Given the description of an element on the screen output the (x, y) to click on. 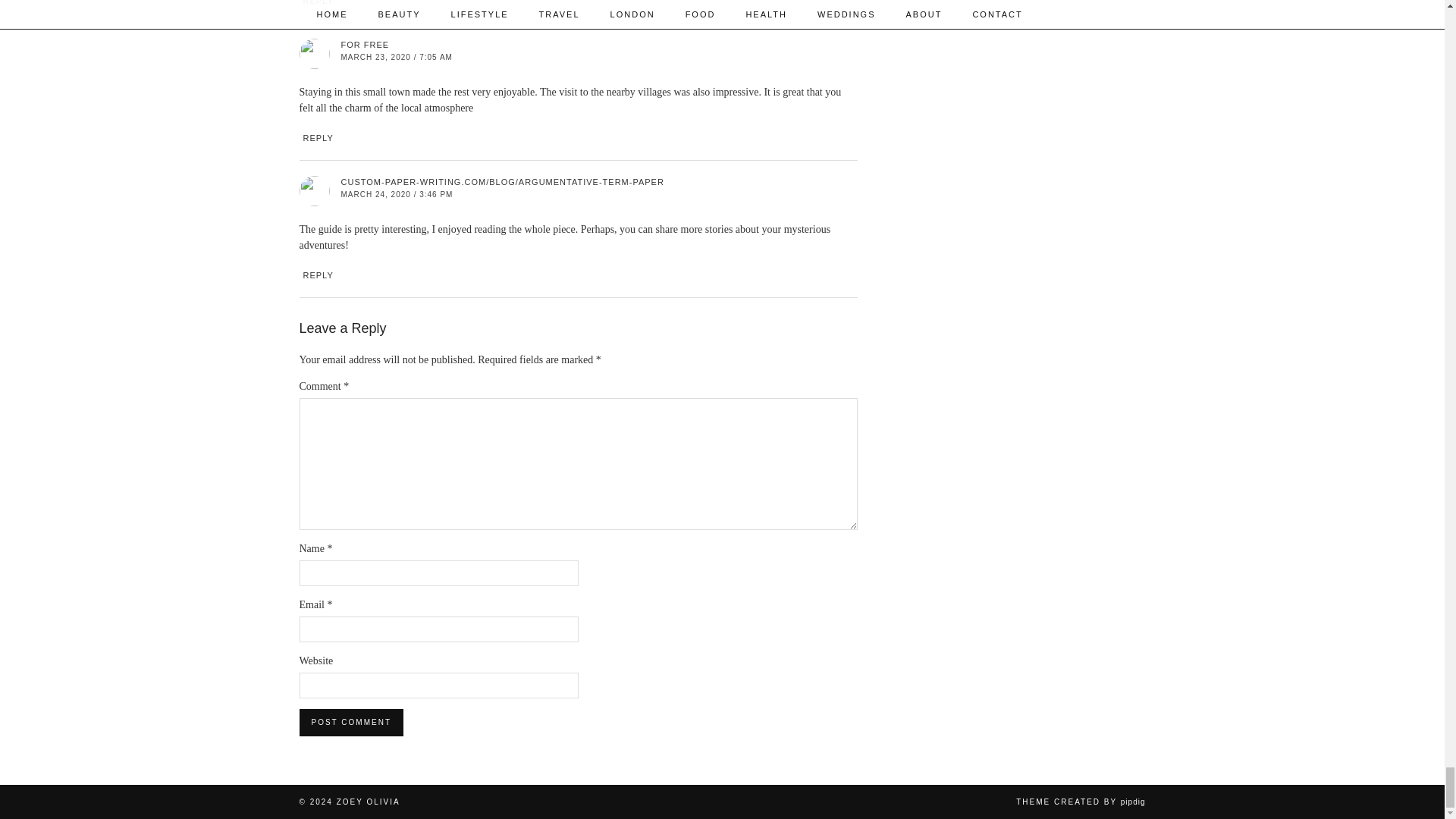
Post Comment (350, 722)
